Given the description of an element on the screen output the (x, y) to click on. 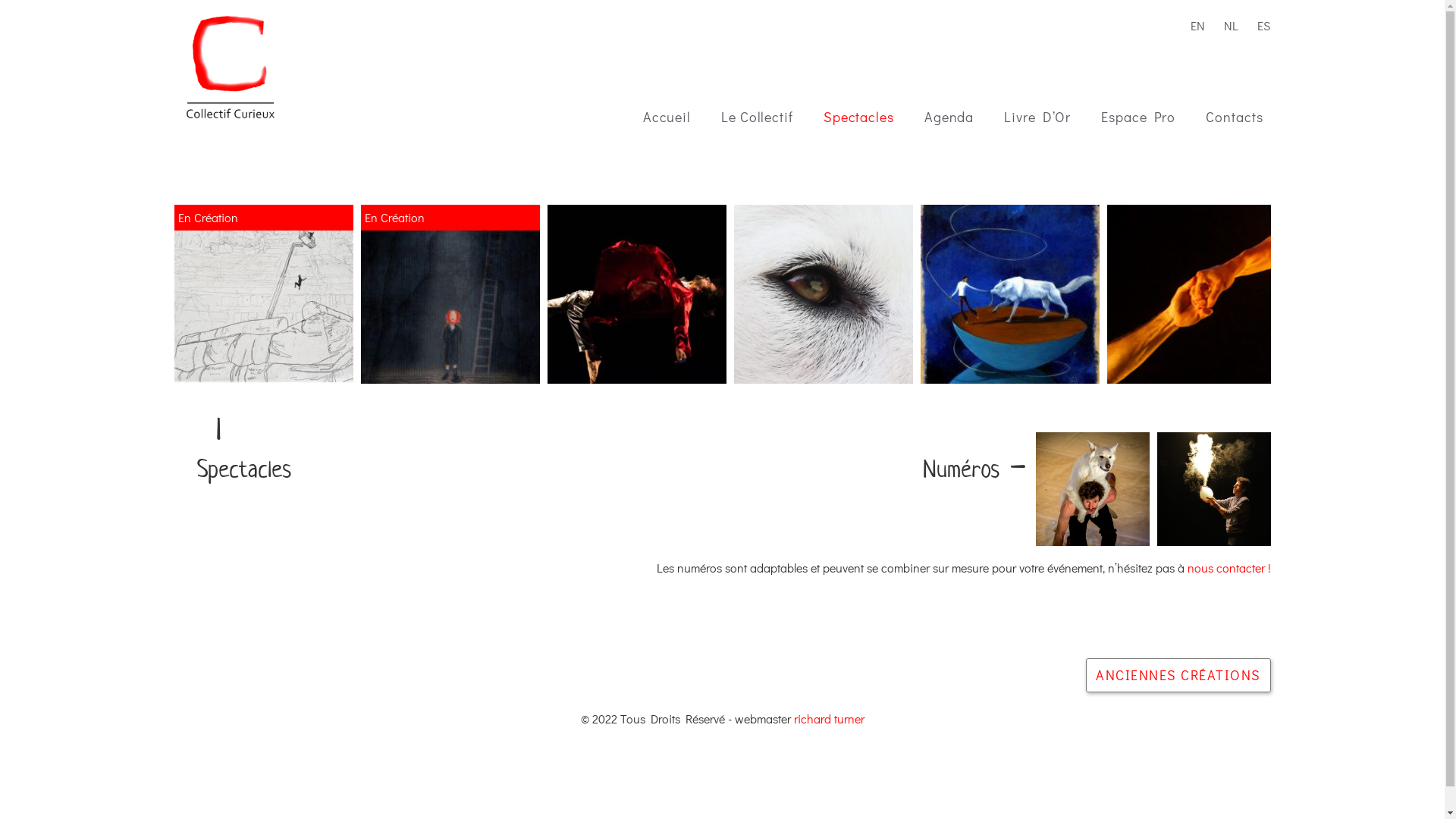
nous contacter ! Element type: text (1228, 567)
EN Element type: text (1193, 24)
ES Element type: text (1259, 24)
Accueil Element type: text (666, 116)
Contacts Element type: text (1233, 116)
Le Collectif Element type: text (757, 116)
Espace Pro Element type: text (1137, 116)
Agenda Element type: text (948, 116)
NL Element type: text (1227, 24)
richard turner Element type: text (828, 718)
Spectacles Element type: text (858, 116)
